Given the description of an element on the screen output the (x, y) to click on. 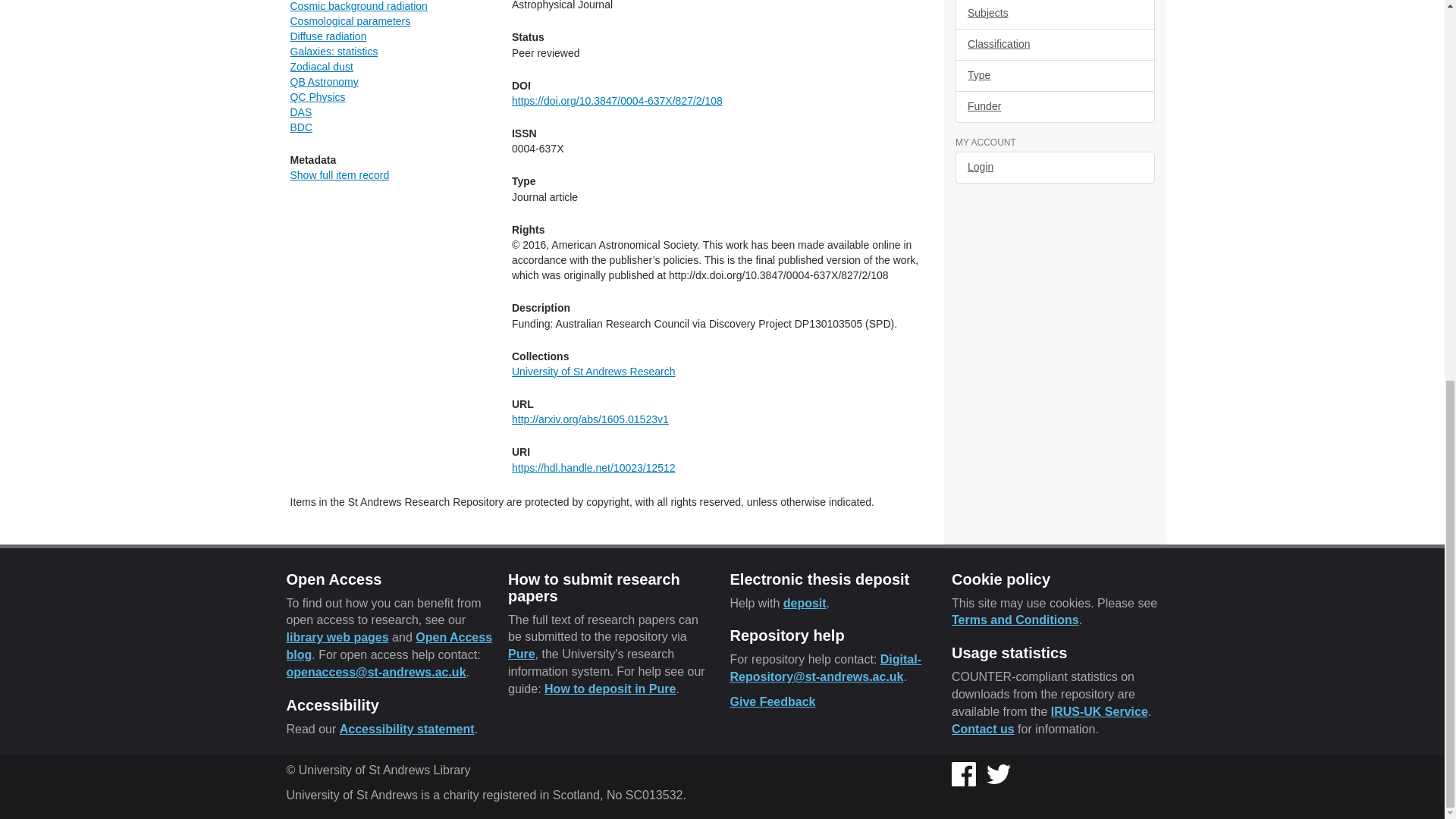
How to deposit in Pure (609, 688)
Zodiacal dust (320, 66)
Galaxies: statistics (333, 51)
Open Access Blog (389, 645)
Cosmological parameters (349, 21)
Accessibility statement (406, 728)
QC Physics (317, 96)
Diffuse radiation (327, 36)
University of St Andrews Library Open Access web pages (337, 636)
DAS (300, 111)
